Given the description of an element on the screen output the (x, y) to click on. 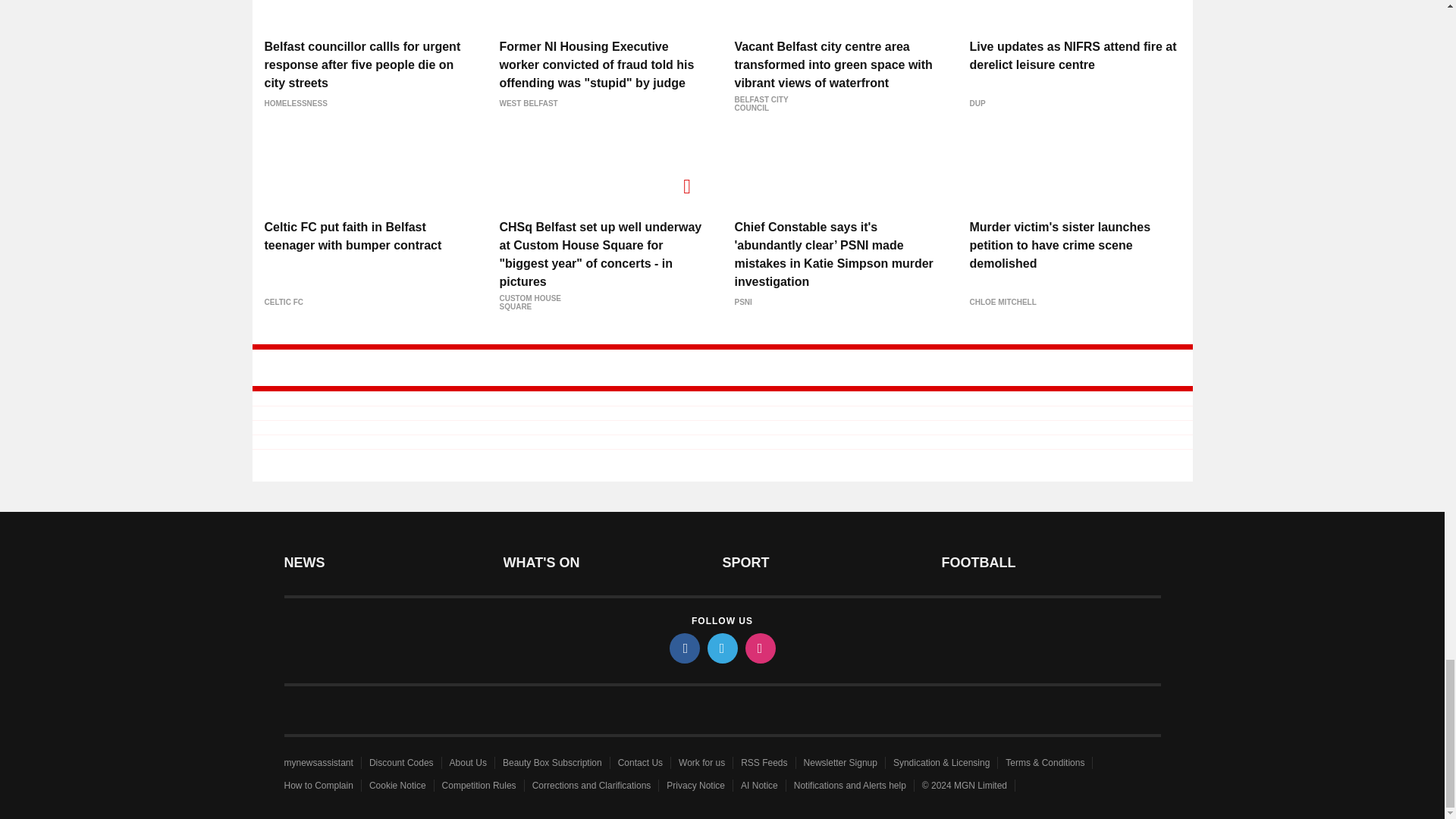
instagram (759, 648)
twitter (721, 648)
facebook (683, 648)
